Given the description of an element on the screen output the (x, y) to click on. 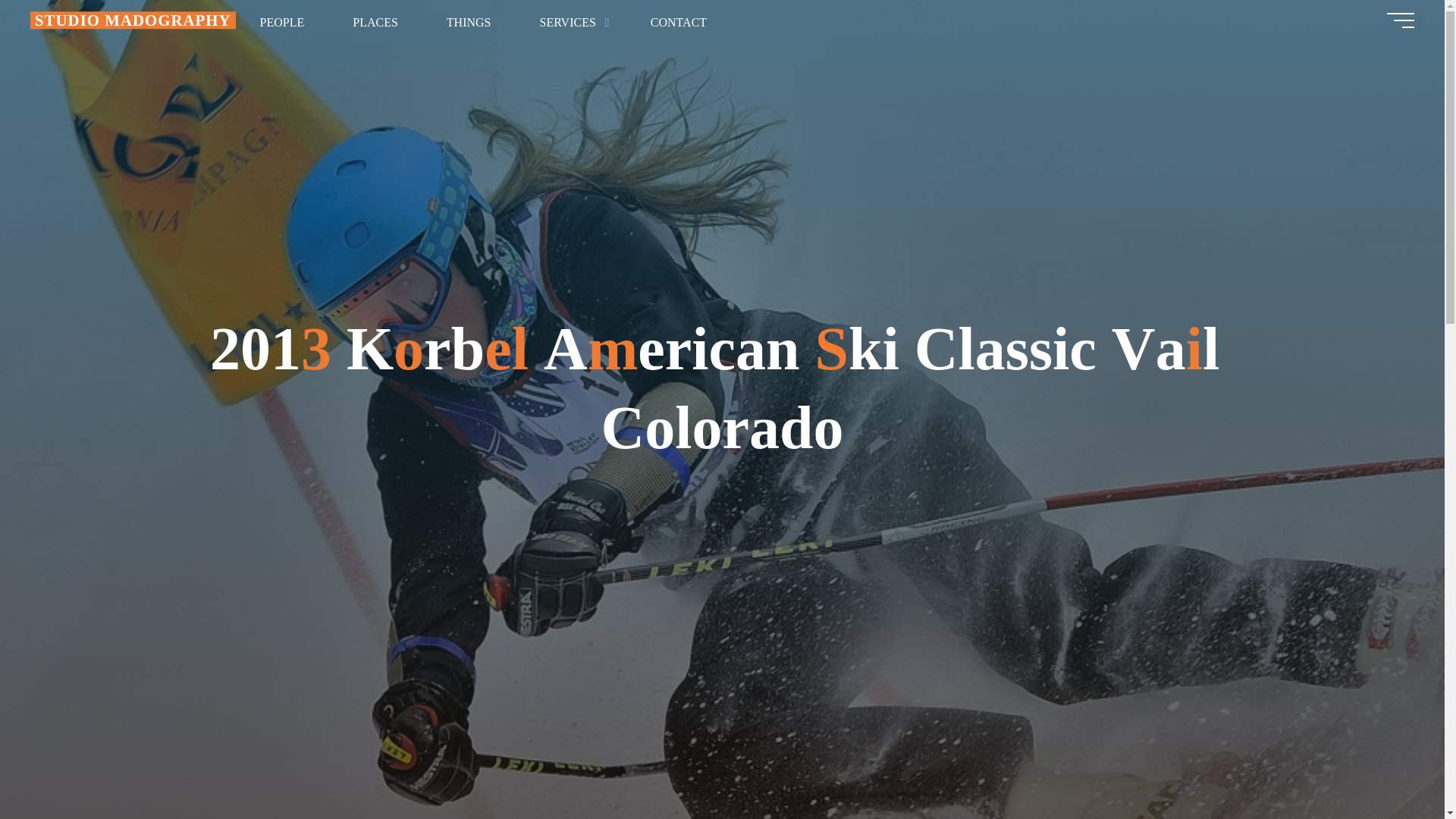
CONTACT (678, 22)
PEOPLE (282, 22)
Commercial Photography (570, 22)
CREATIVE ORIGINAL WORKS (132, 19)
STUDIO MADOGRAPHY (132, 19)
SERVICES (570, 22)
Read more (721, 724)
THINGS (468, 22)
PLACES (375, 22)
